Given the description of an element on the screen output the (x, y) to click on. 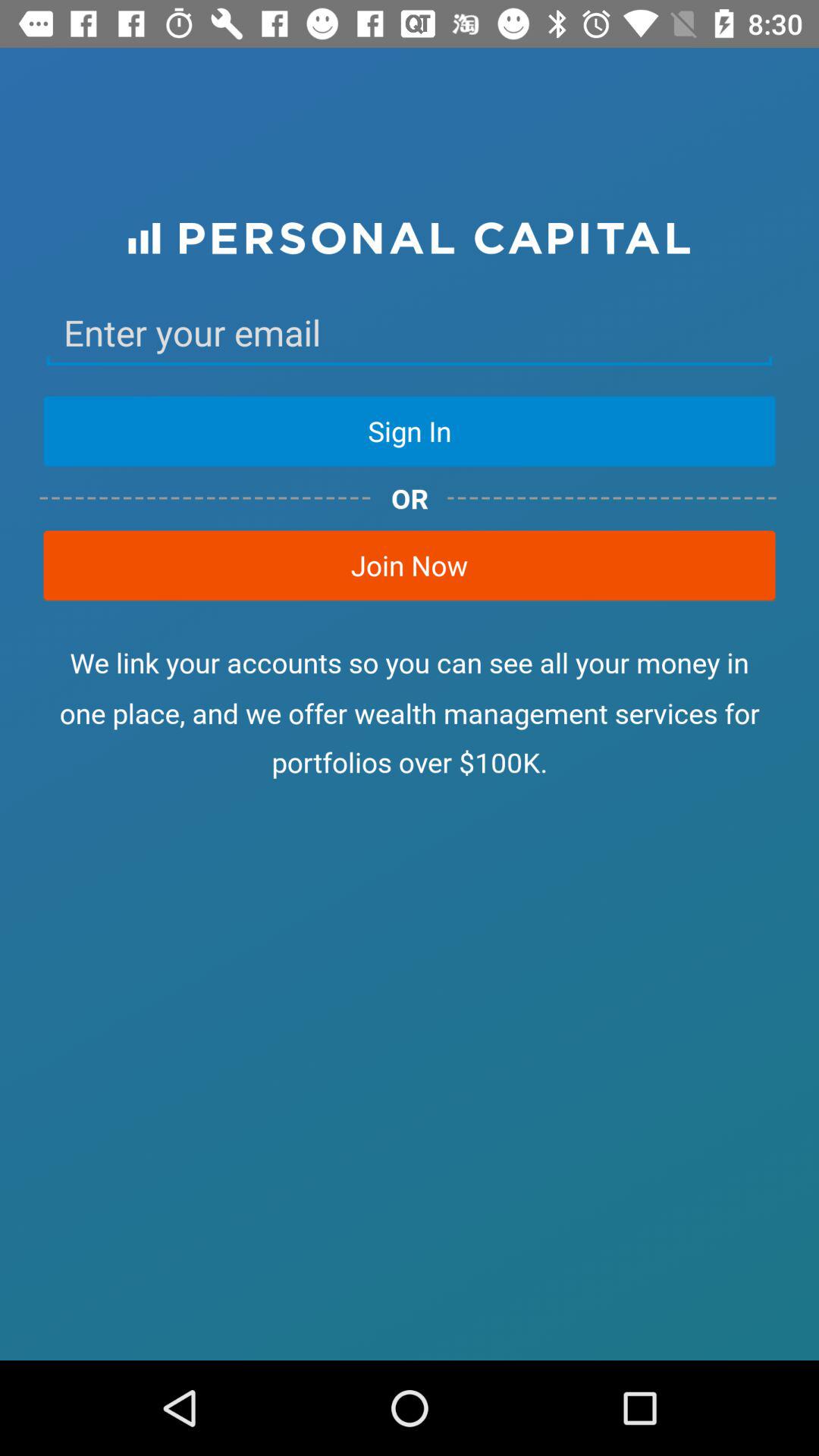
turn off sign in icon (409, 430)
